Given the description of an element on the screen output the (x, y) to click on. 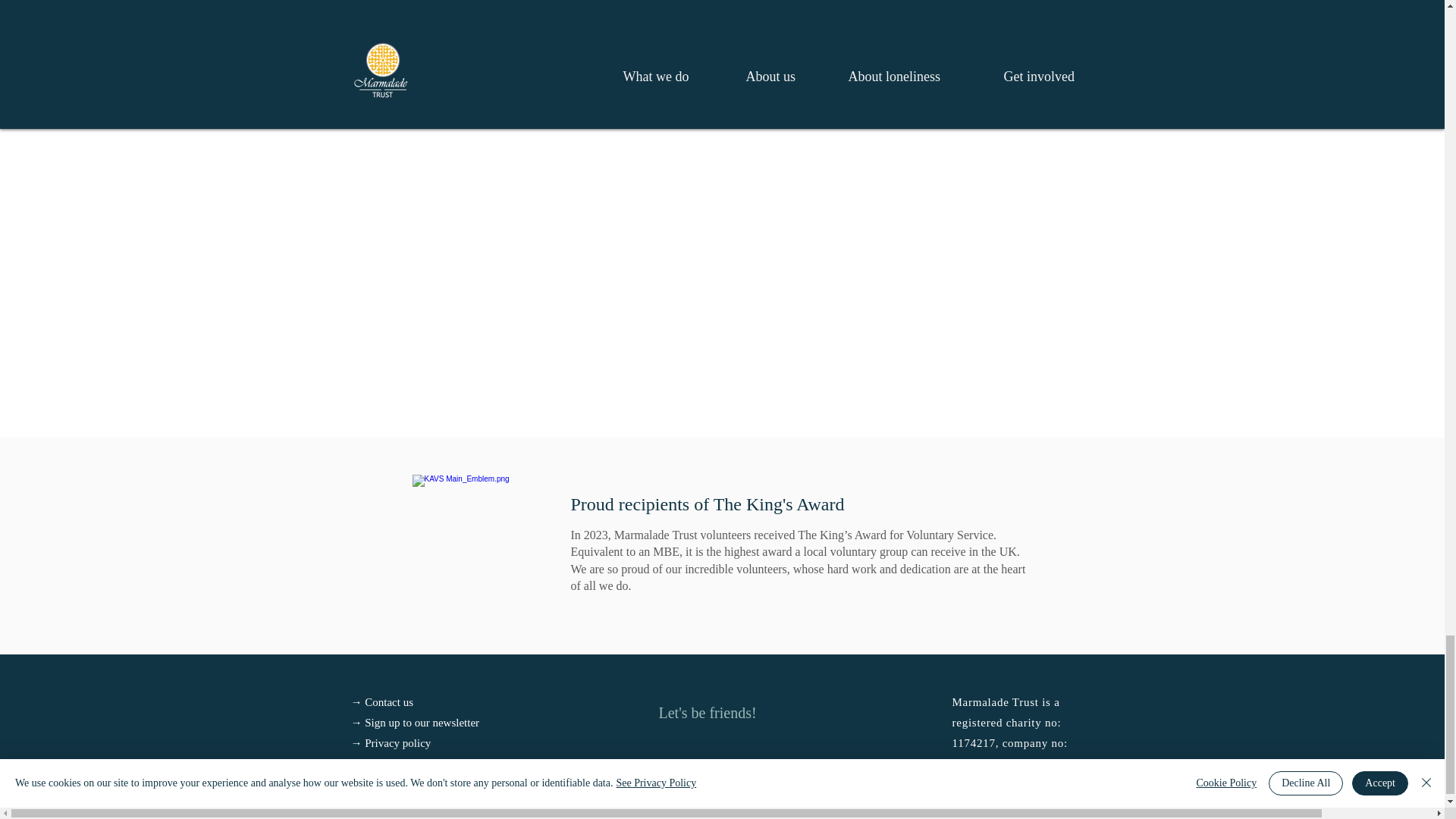
Proud recipients of The King's Award (707, 504)
